Given the description of an element on the screen output the (x, y) to click on. 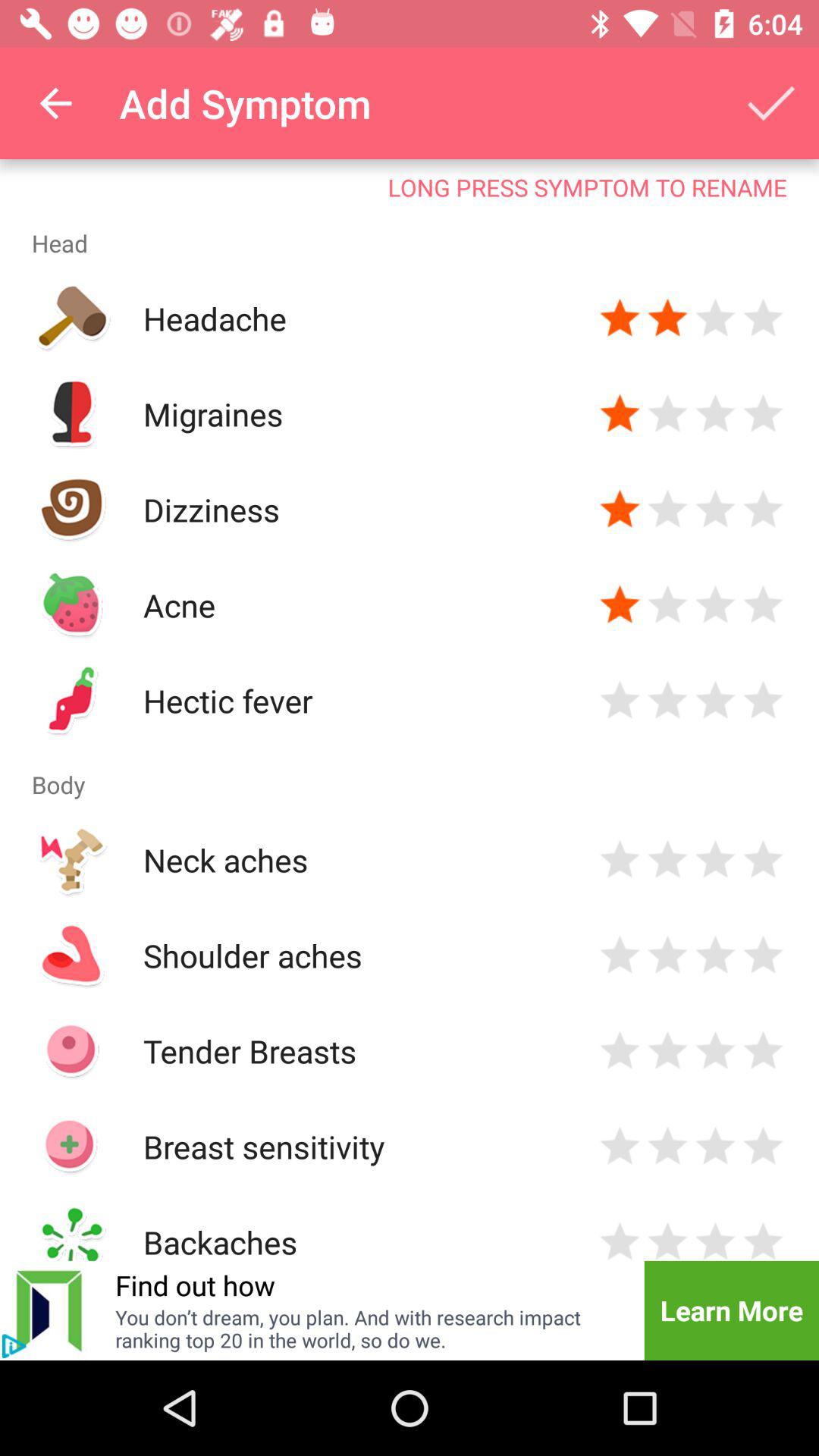
rate migraines two stars (667, 413)
